Given the description of an element on the screen output the (x, y) to click on. 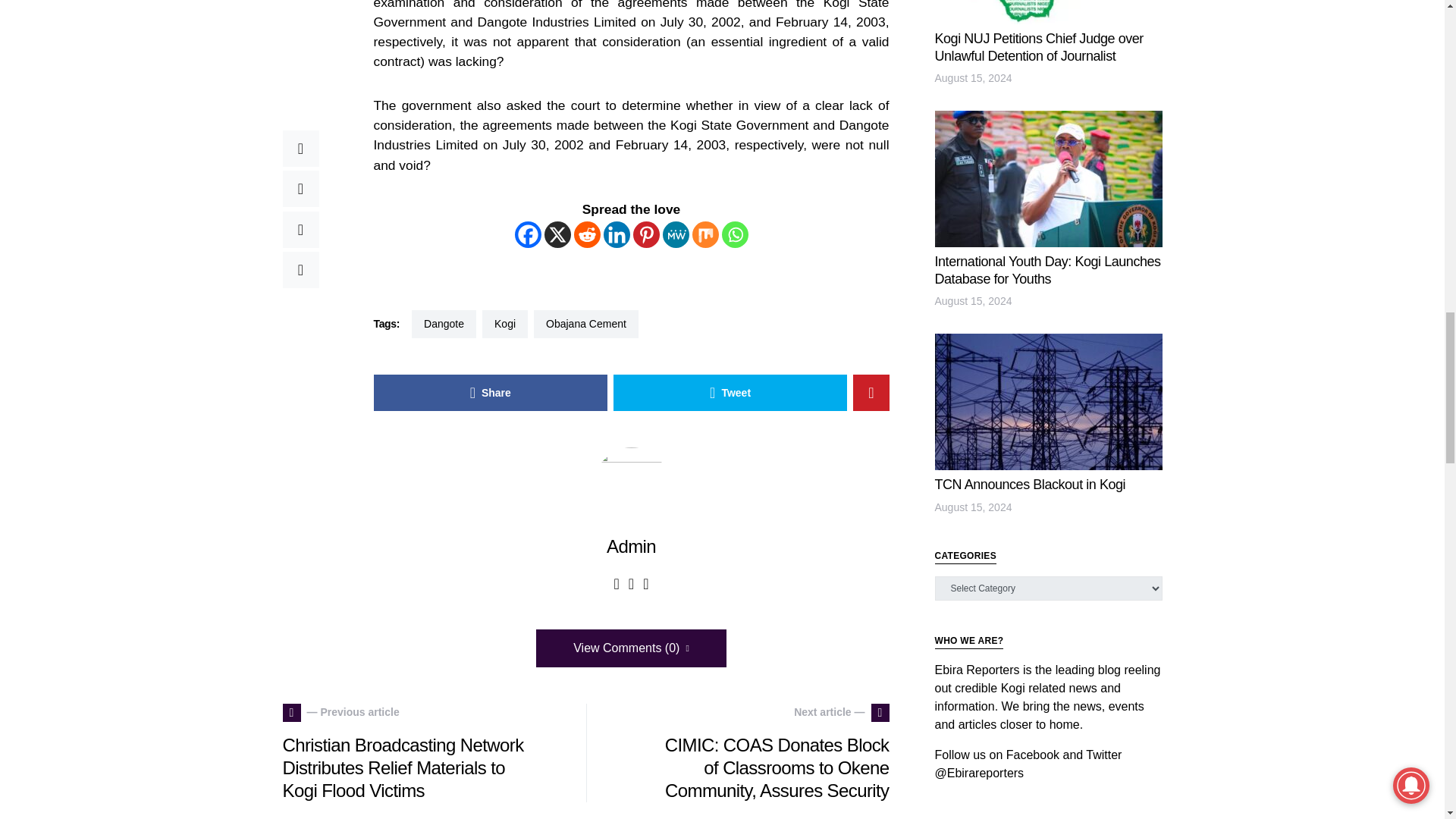
Linkedin (617, 234)
MeWe (675, 234)
Whatsapp (735, 234)
Reddit (586, 234)
Mix (704, 234)
Pinterest (645, 234)
X (557, 234)
Facebook (526, 234)
